Given the description of an element on the screen output the (x, y) to click on. 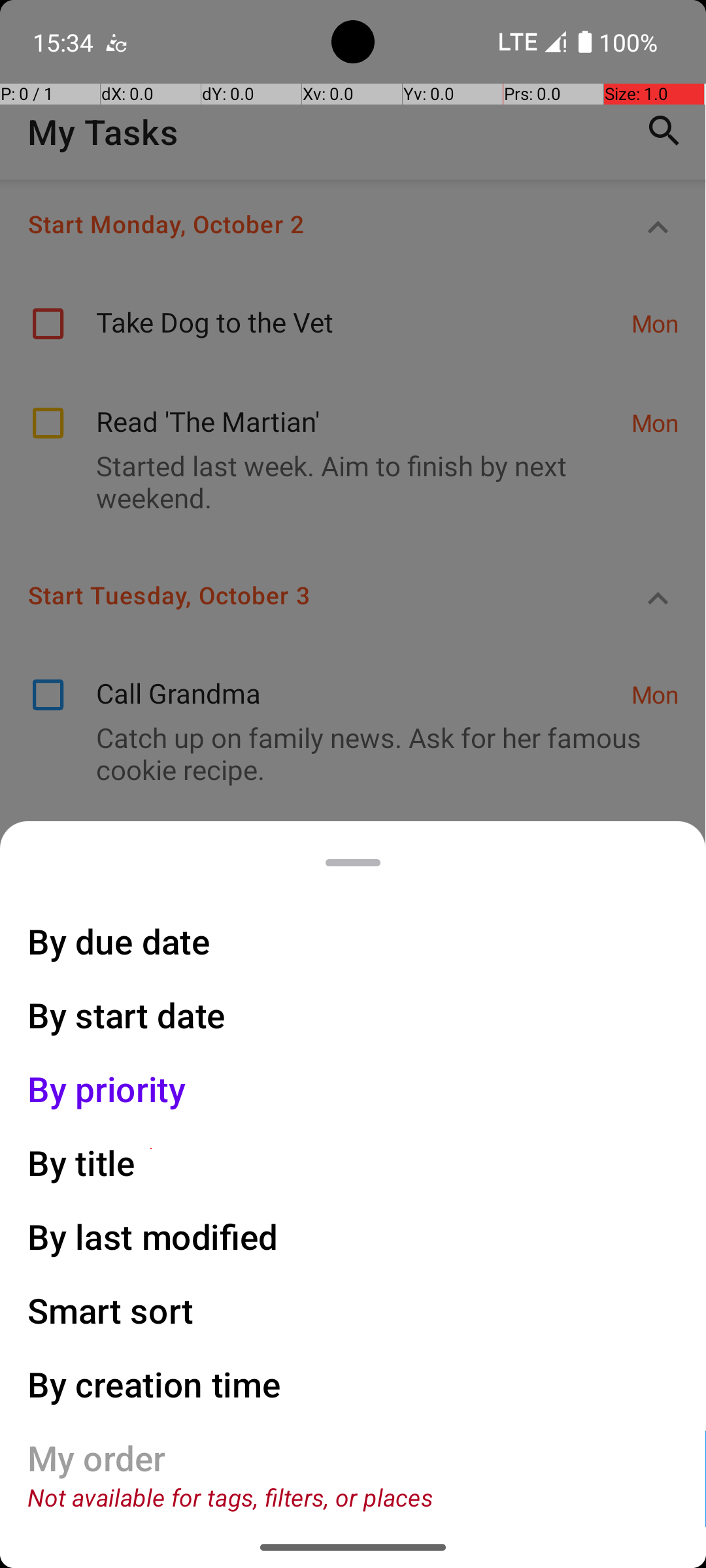
By due date Element type: android.widget.TextView (119, 940)
By start date Element type: android.widget.TextView (126, 1014)
By priority Element type: android.widget.TextView (106, 1088)
By title Element type: android.widget.TextView (81, 1162)
By last modified Element type: android.widget.TextView (152, 1236)
Smart sort Element type: android.widget.TextView (110, 1310)
By creation time Element type: android.widget.TextView (154, 1383)
My order Element type: android.widget.TextView (96, 1457)
Not available for tags, filters, or places Element type: android.widget.TextView (230, 1497)
